Given the description of an element on the screen output the (x, y) to click on. 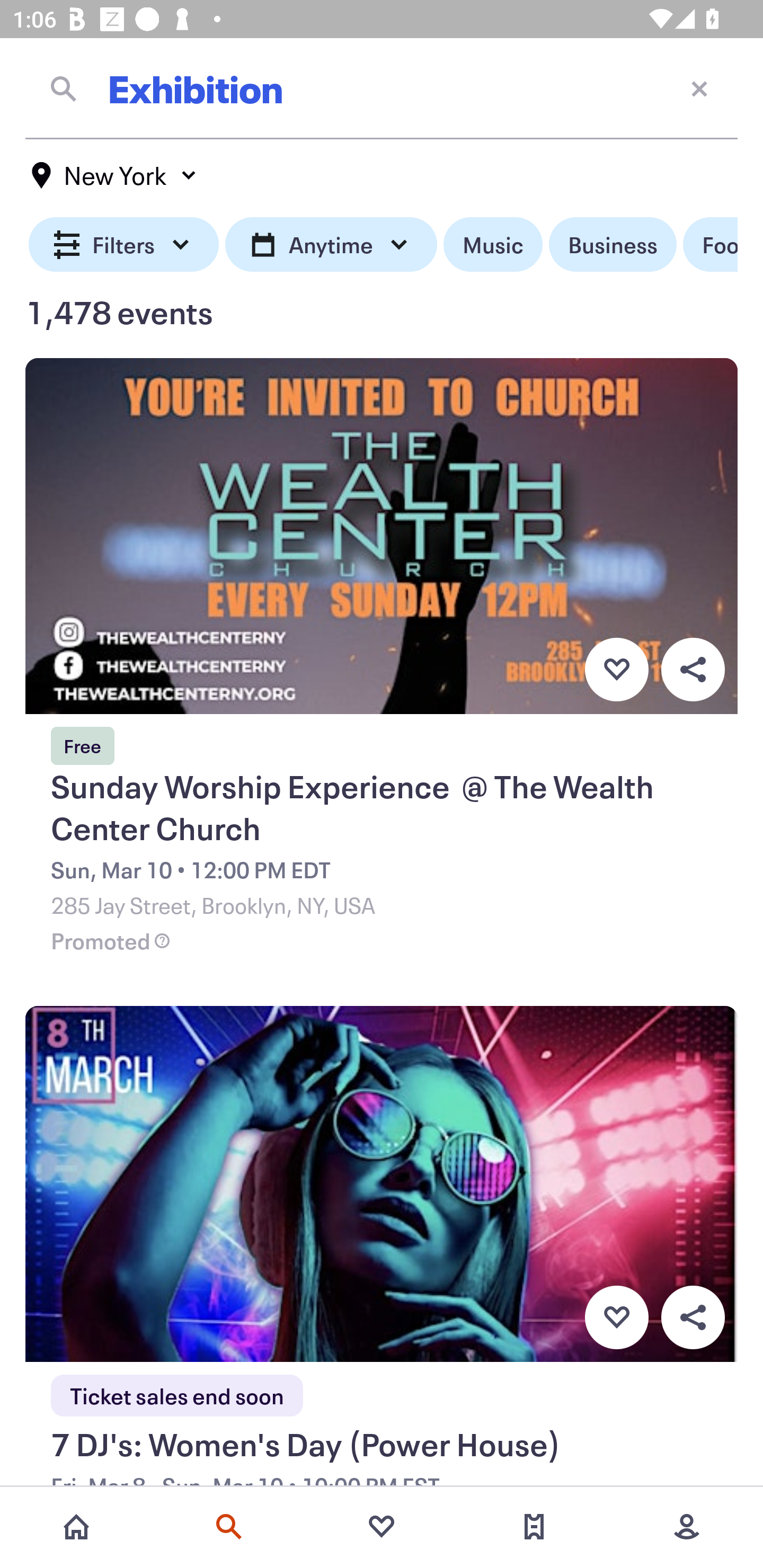
Exhibition Close current screen (381, 88)
Close current screen (699, 88)
New York (114, 175)
Filters (123, 244)
Anytime (331, 244)
Music (492, 244)
Business (612, 244)
Favorite button (616, 669)
Overflow menu button (692, 669)
Favorite button (616, 1317)
Overflow menu button (692, 1317)
Home (76, 1526)
Search events (228, 1526)
Favorites (381, 1526)
Tickets (533, 1526)
More (686, 1526)
